Given the description of an element on the screen output the (x, y) to click on. 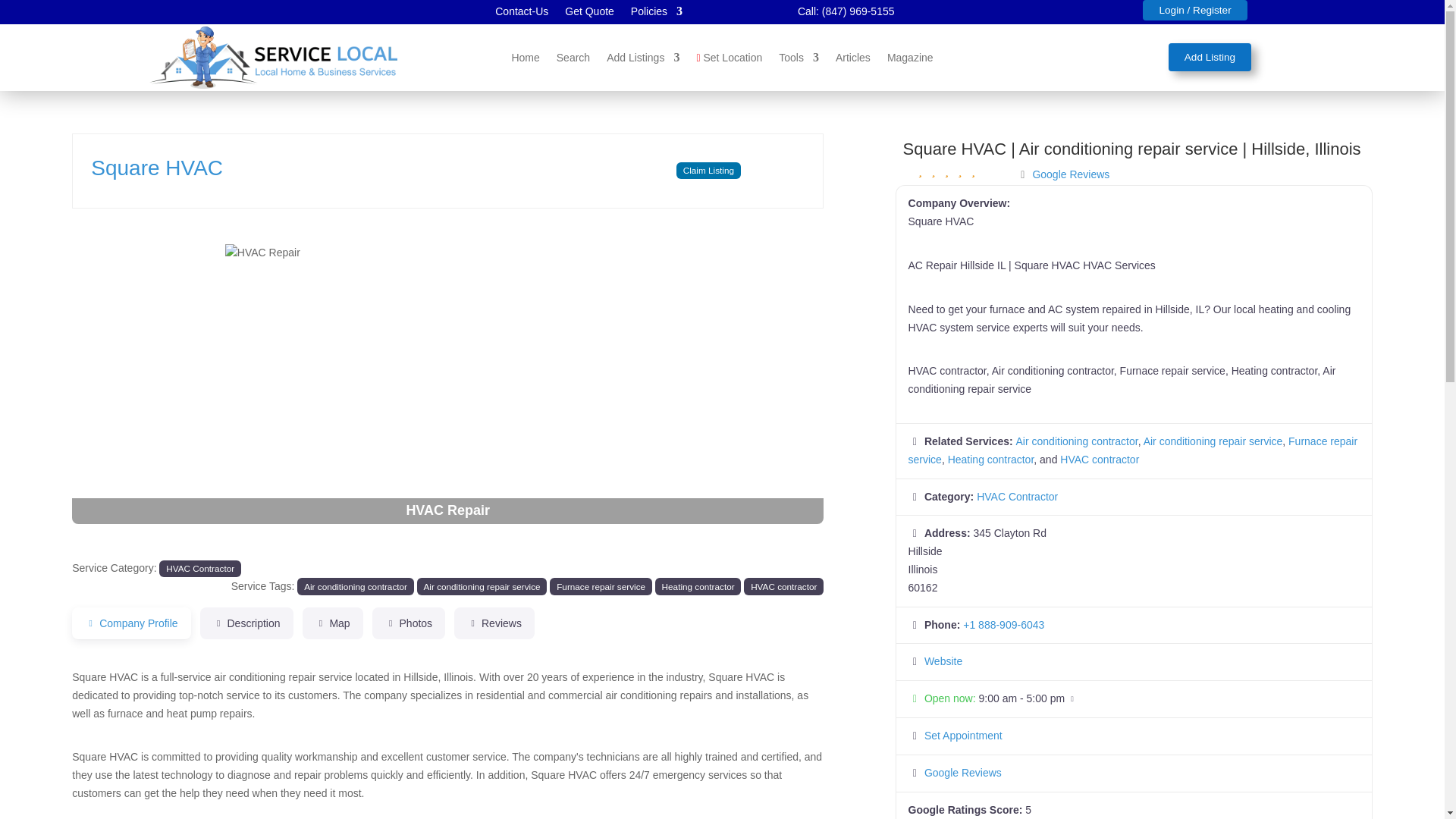
5 star rating (946, 171)
Get Quote (589, 13)
Company Profile (130, 623)
Tools (798, 60)
Expand opening hours (1021, 698)
Photos (408, 623)
View: Square HVAC (156, 167)
Contact-Us (521, 13)
Map (332, 623)
Add Listing (1210, 57)
HVAC Repair (448, 369)
Description (247, 623)
Policies (656, 13)
Home (524, 60)
Reviews (494, 623)
